Given the description of an element on the screen output the (x, y) to click on. 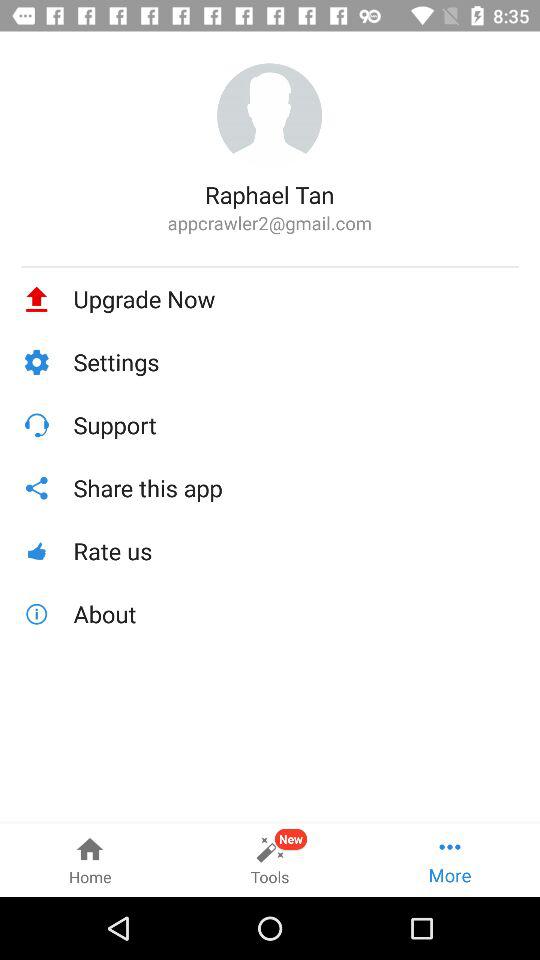
tap the item above the upgrade now item (270, 266)
